Given the description of an element on the screen output the (x, y) to click on. 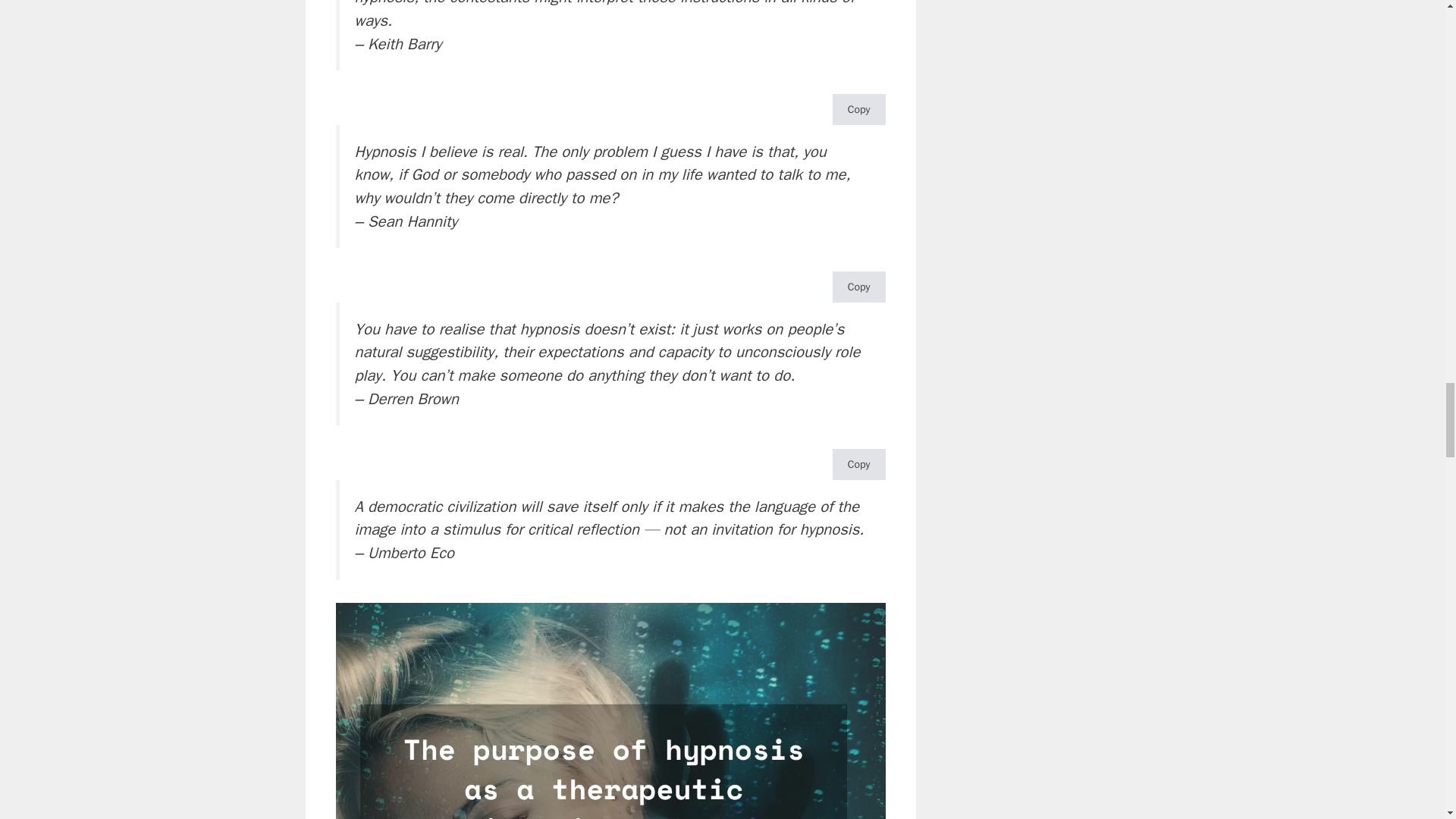
Copy (858, 463)
Copy (858, 286)
Copy (858, 109)
